Given the description of an element on the screen output the (x, y) to click on. 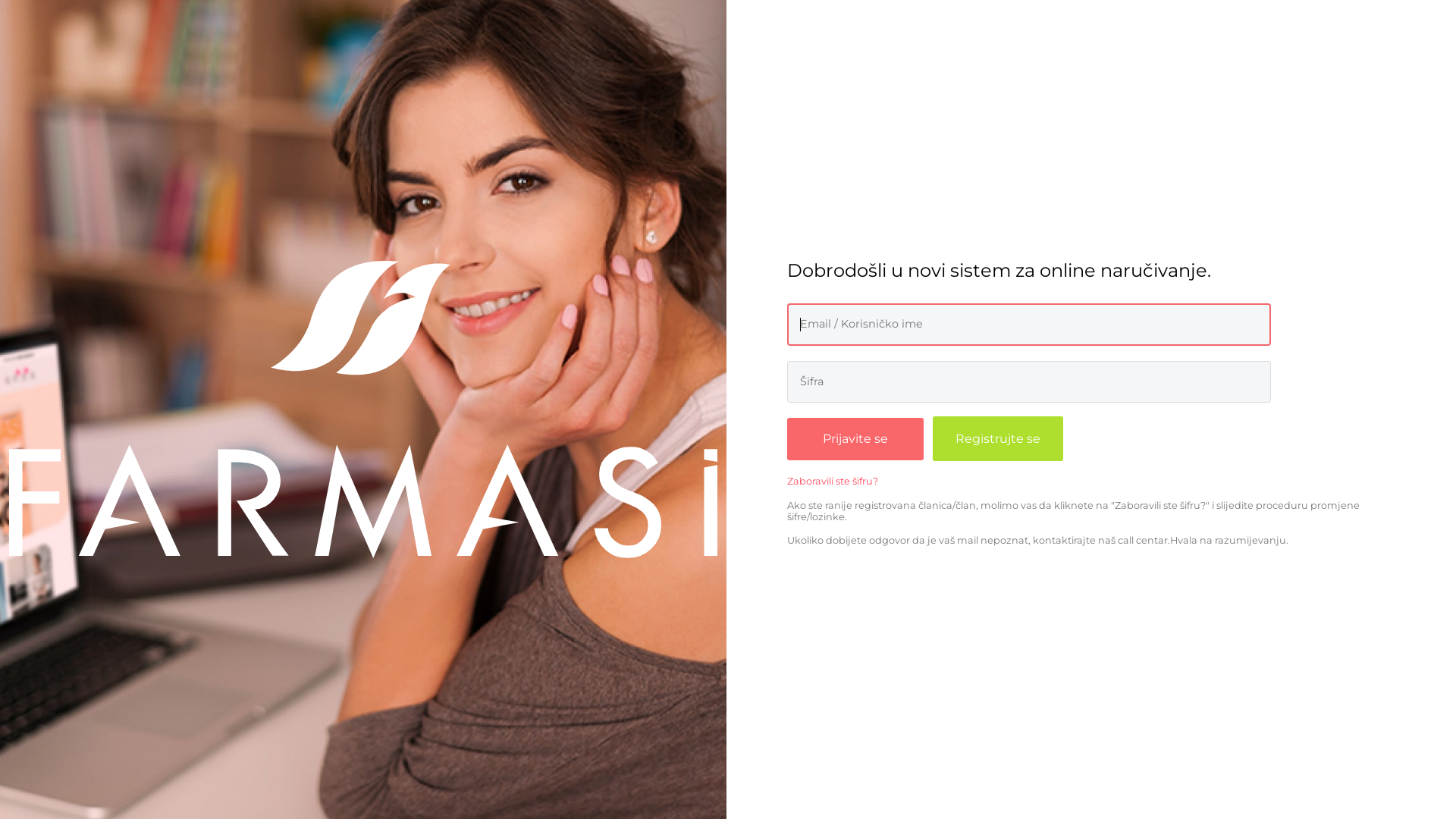
Registrujte se Element type: text (997, 438)
Prijavite se Element type: text (855, 438)
